Given the description of an element on the screen output the (x, y) to click on. 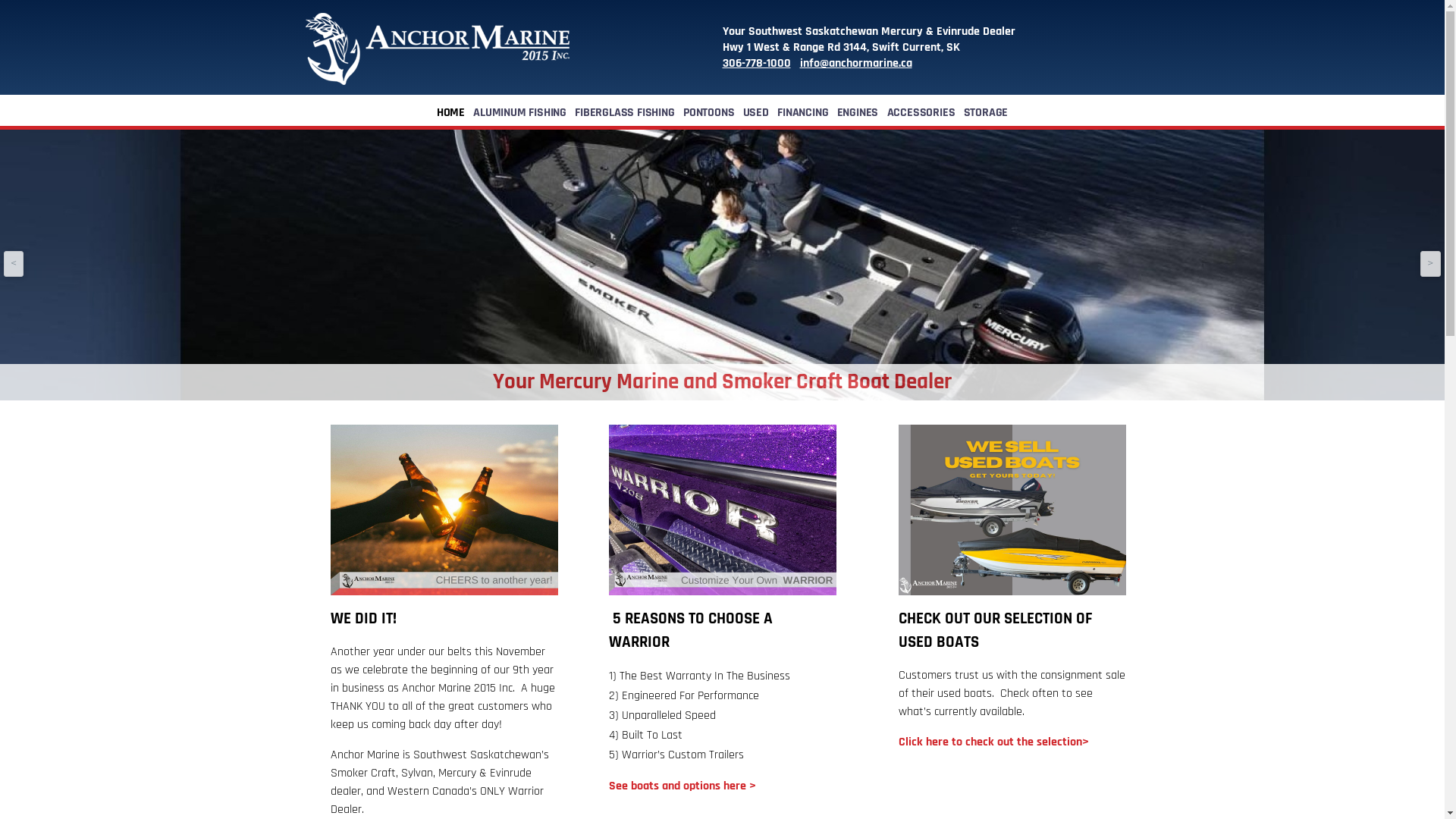
STORAGE Element type: text (985, 109)
See boats and options here > Element type: text (682, 785)
ALUMINUM FISHING Element type: text (520, 109)
306-778-1000 Element type: text (755, 63)
ENGINES Element type: text (857, 109)
HOME Element type: text (450, 109)
Click here to check out the selection> Element type: text (993, 741)
PONTOONS Element type: text (708, 109)
info@anchormarine.ca Element type: text (855, 63)
FINANCING Element type: text (803, 109)
> Element type: text (1430, 263)
< Element type: text (13, 263)
ACCESSORIES Element type: text (920, 109)
FIBERGLASS FISHING Element type: text (625, 109)
USED Element type: text (755, 109)
